Given the description of an element on the screen output the (x, y) to click on. 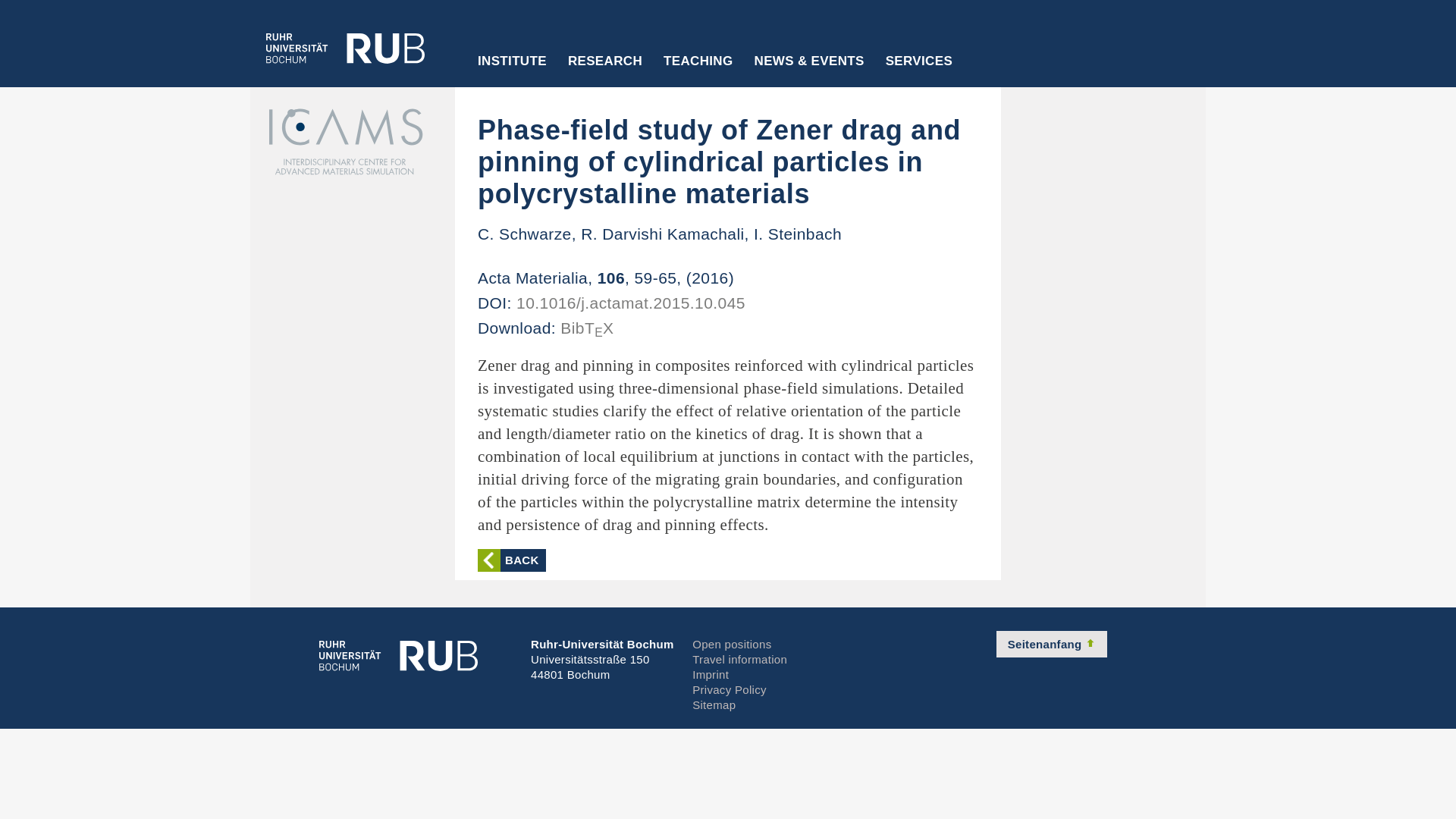
RESEARCH (604, 70)
INSTITUTE (512, 70)
TEACHING (698, 70)
